Given the description of an element on the screen output the (x, y) to click on. 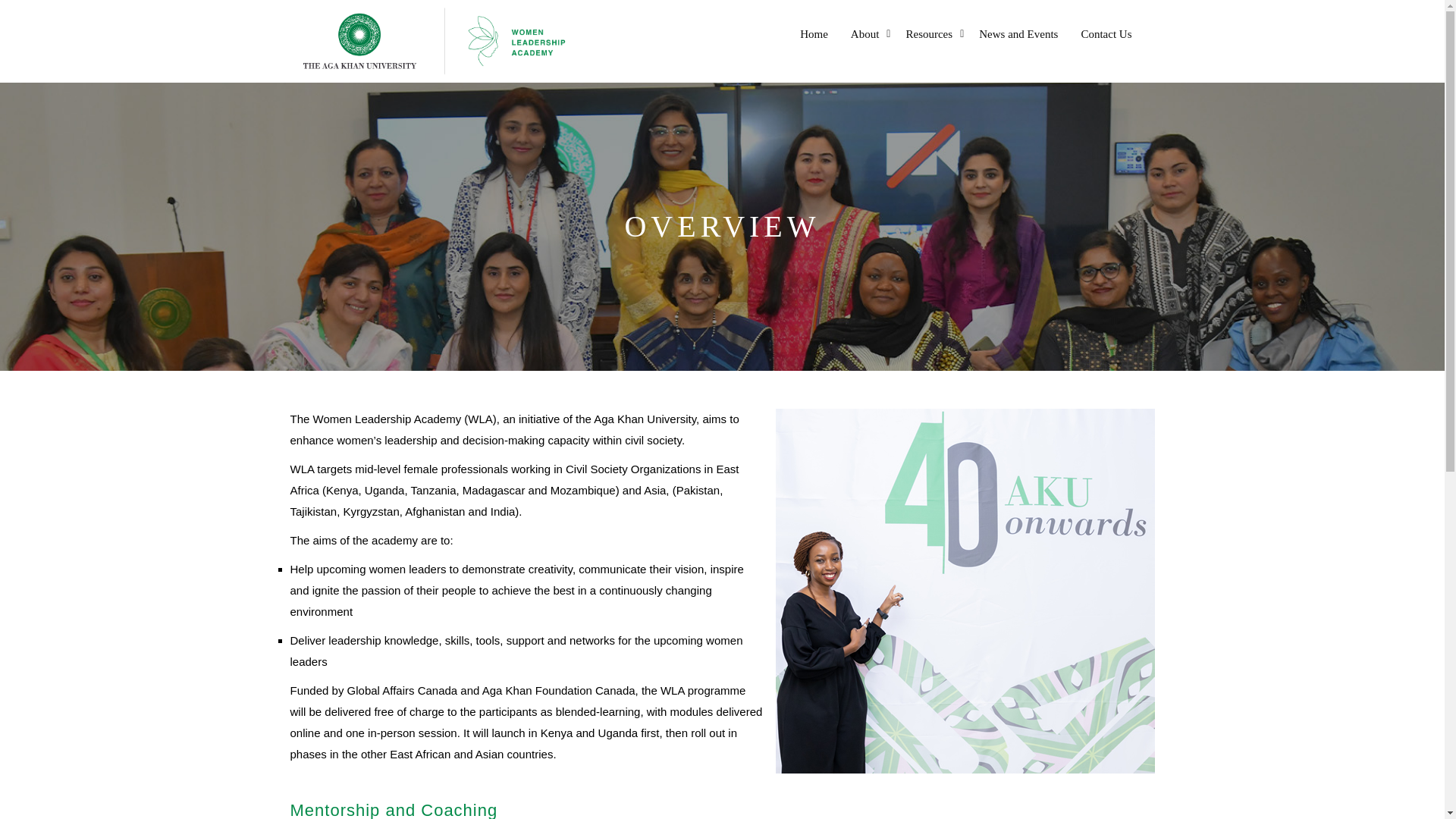
Contact Us (1105, 33)
Home (813, 33)
Resources (930, 33)
About (866, 33)
News and Events (1018, 33)
